Given the description of an element on the screen output the (x, y) to click on. 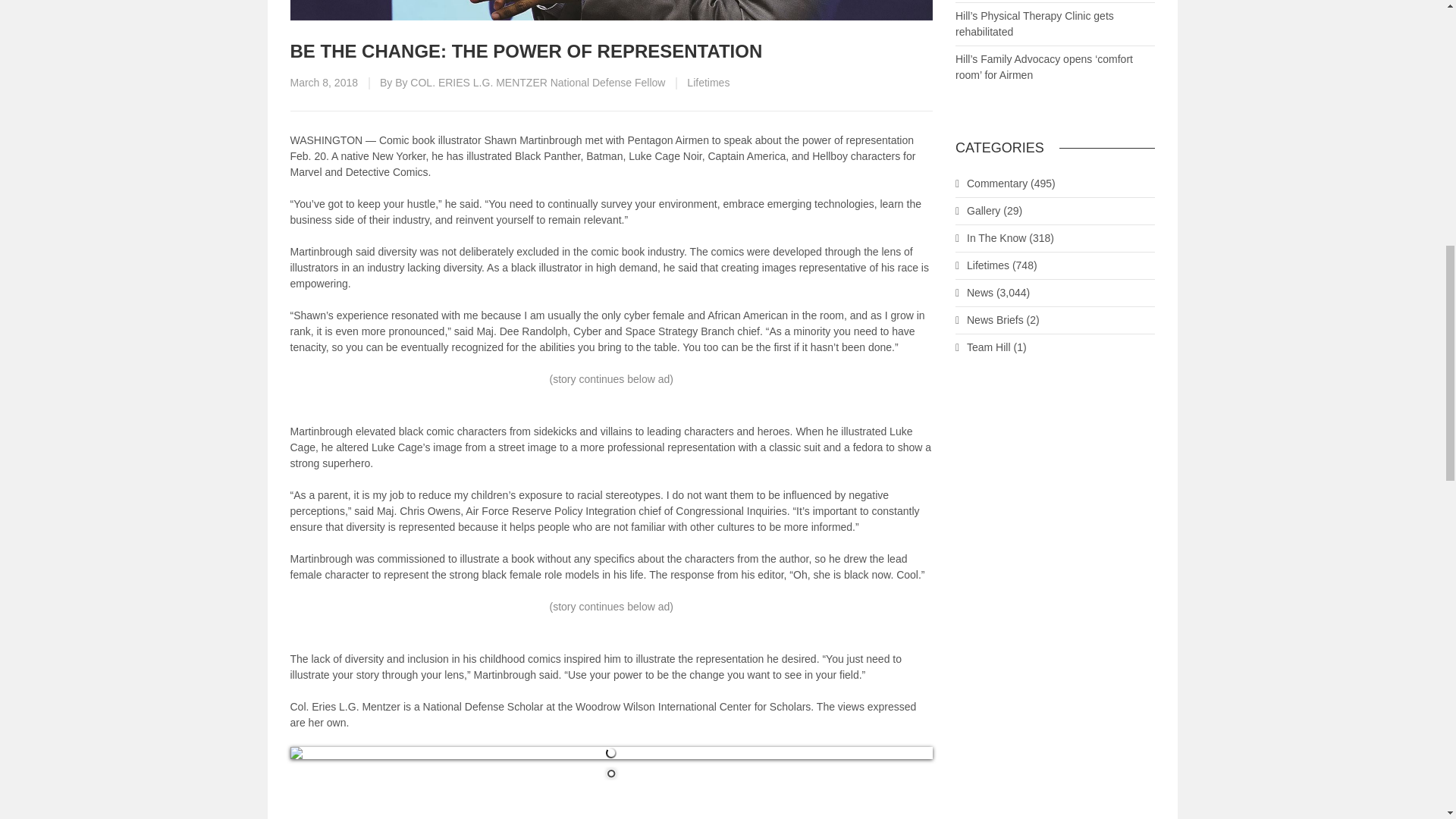
Lifetimes (708, 82)
Be the change: The power of representation (611, 10)
By COL. ERIES L.G. MENTZER National Defense Fellow (529, 82)
March 8, 2018 (323, 82)
1 (611, 774)
